Given the description of an element on the screen output the (x, y) to click on. 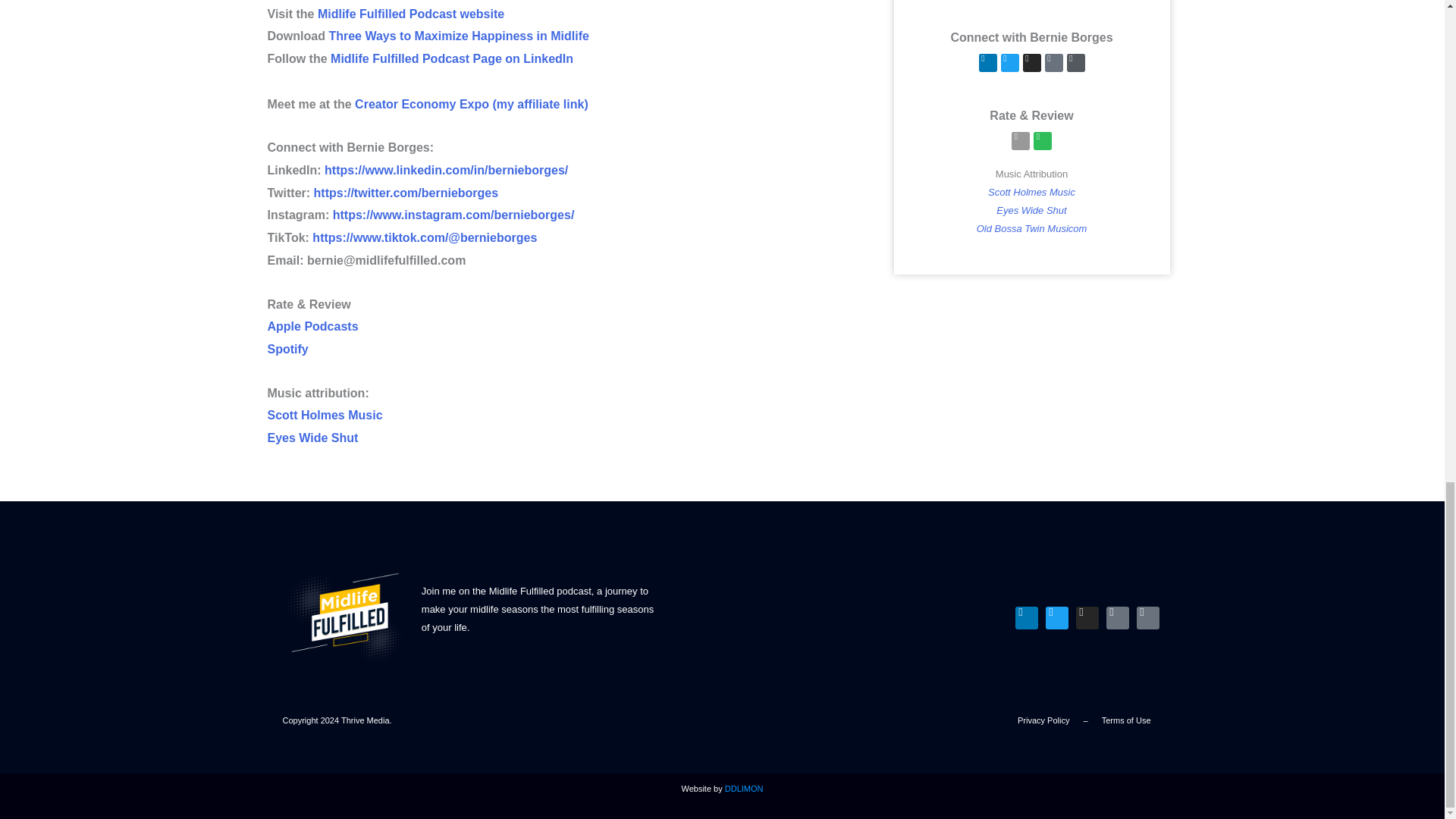
Spotify (286, 349)
Scott Holmes Music (323, 414)
Midlife Fulfilled Podcast Page on LinkedIn (451, 58)
Eyes Wide Shut (312, 437)
Three Ways to Maximize Happiness in Midlife (458, 35)
Apple Podcasts (312, 326)
Midlife Fulfilled Podcast website (410, 13)
